Given the description of an element on the screen output the (x, y) to click on. 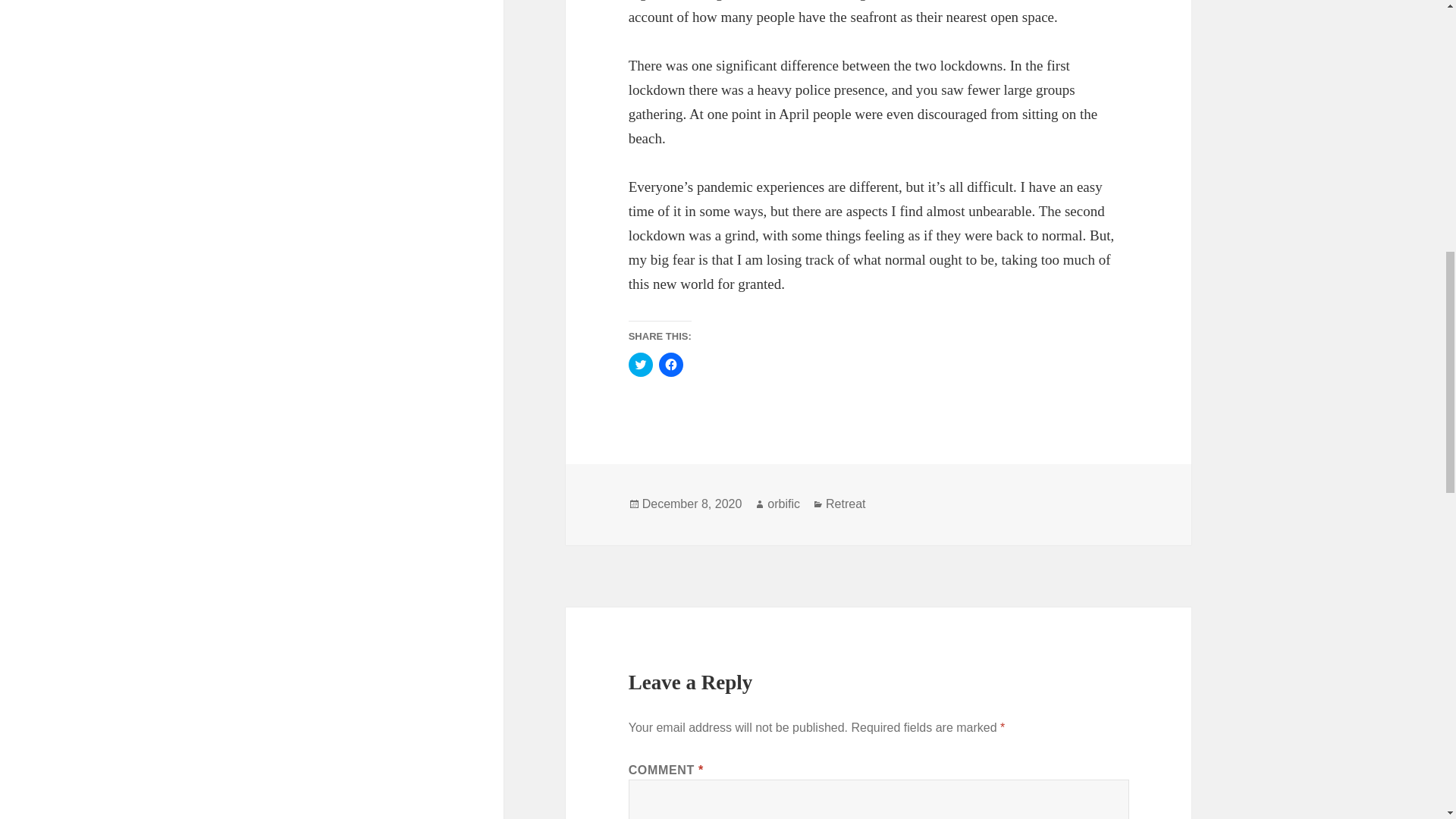
December 8, 2020 (692, 504)
Click to share on Facebook (670, 364)
Retreat (844, 504)
Click to share on Twitter (640, 364)
orbific (783, 504)
